Given the description of an element on the screen output the (x, y) to click on. 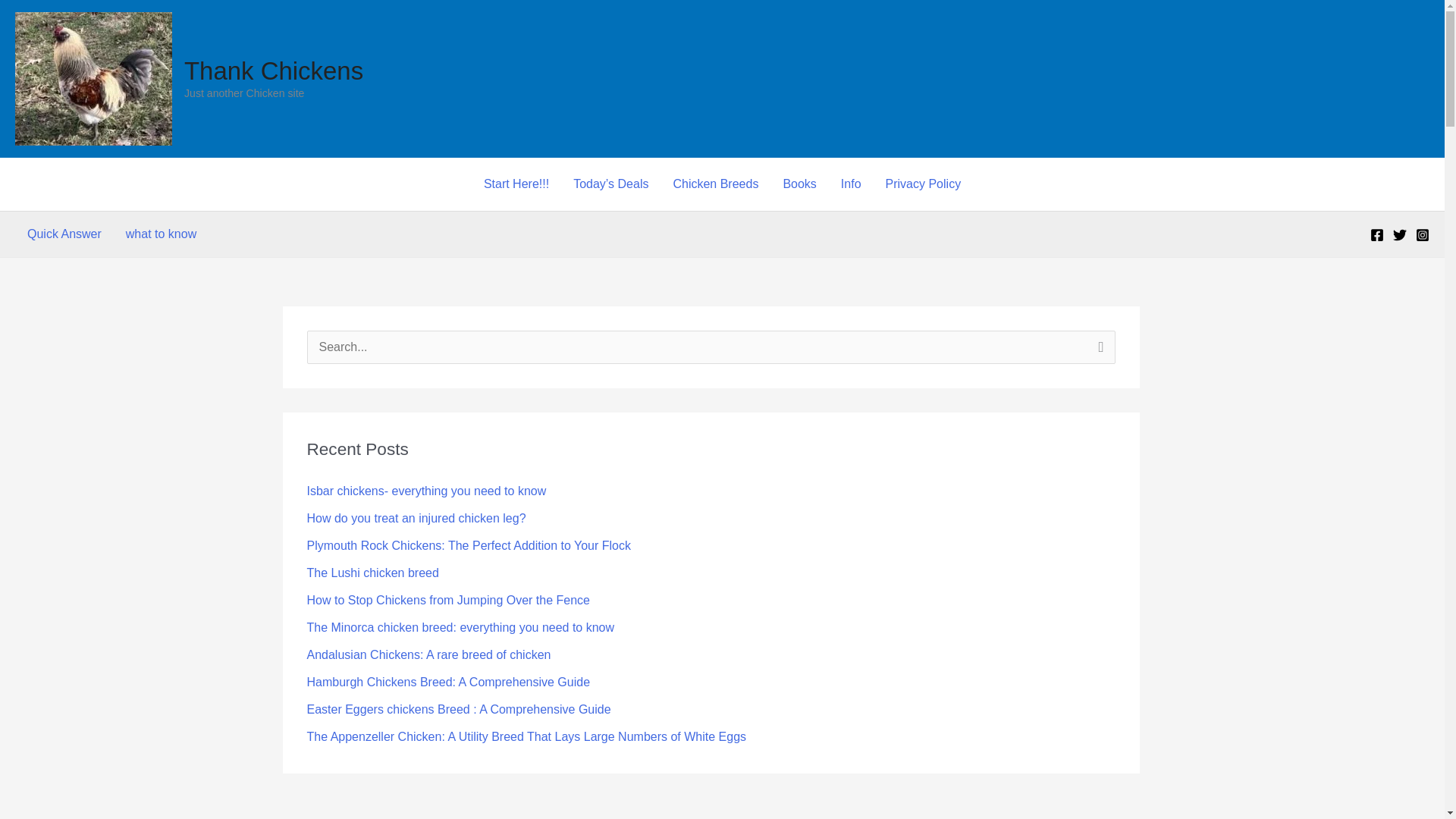
Thank Chickens (273, 70)
How to Stop Chickens from Jumping Over the Fence (447, 599)
Hamburgh Chickens Breed: A Comprehensive Guide (447, 681)
what to know (160, 234)
Andalusian Chickens: A rare breed of chicken (427, 654)
Isbar chickens- everything you need to know (425, 490)
How do you treat an injured chicken leg? (415, 517)
Quick Answer (63, 234)
Start Here!!! (515, 184)
Privacy Policy (923, 184)
